Given the description of an element on the screen output the (x, y) to click on. 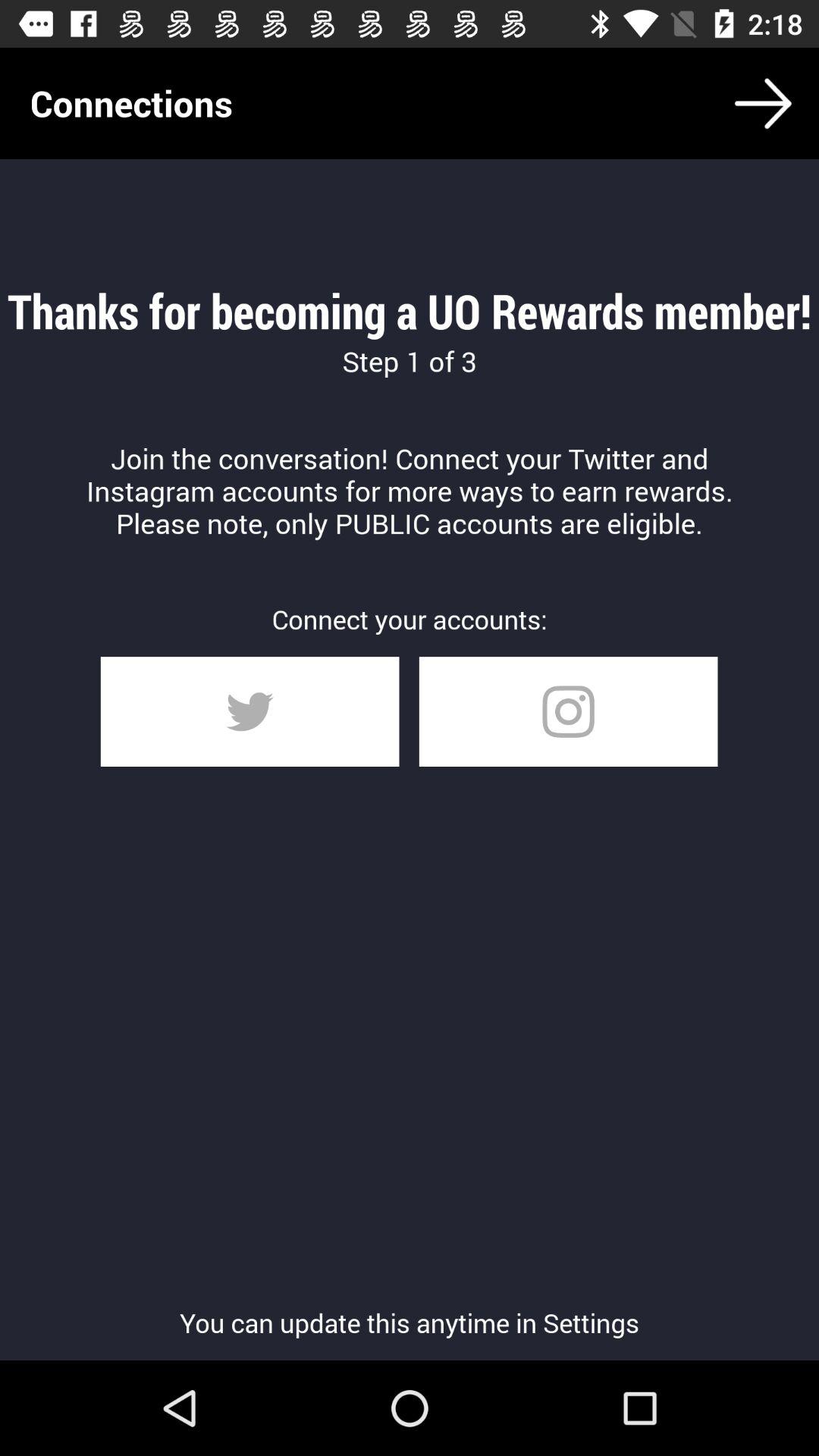
turn on the icon to the right of the connections icon (763, 103)
